Given the description of an element on the screen output the (x, y) to click on. 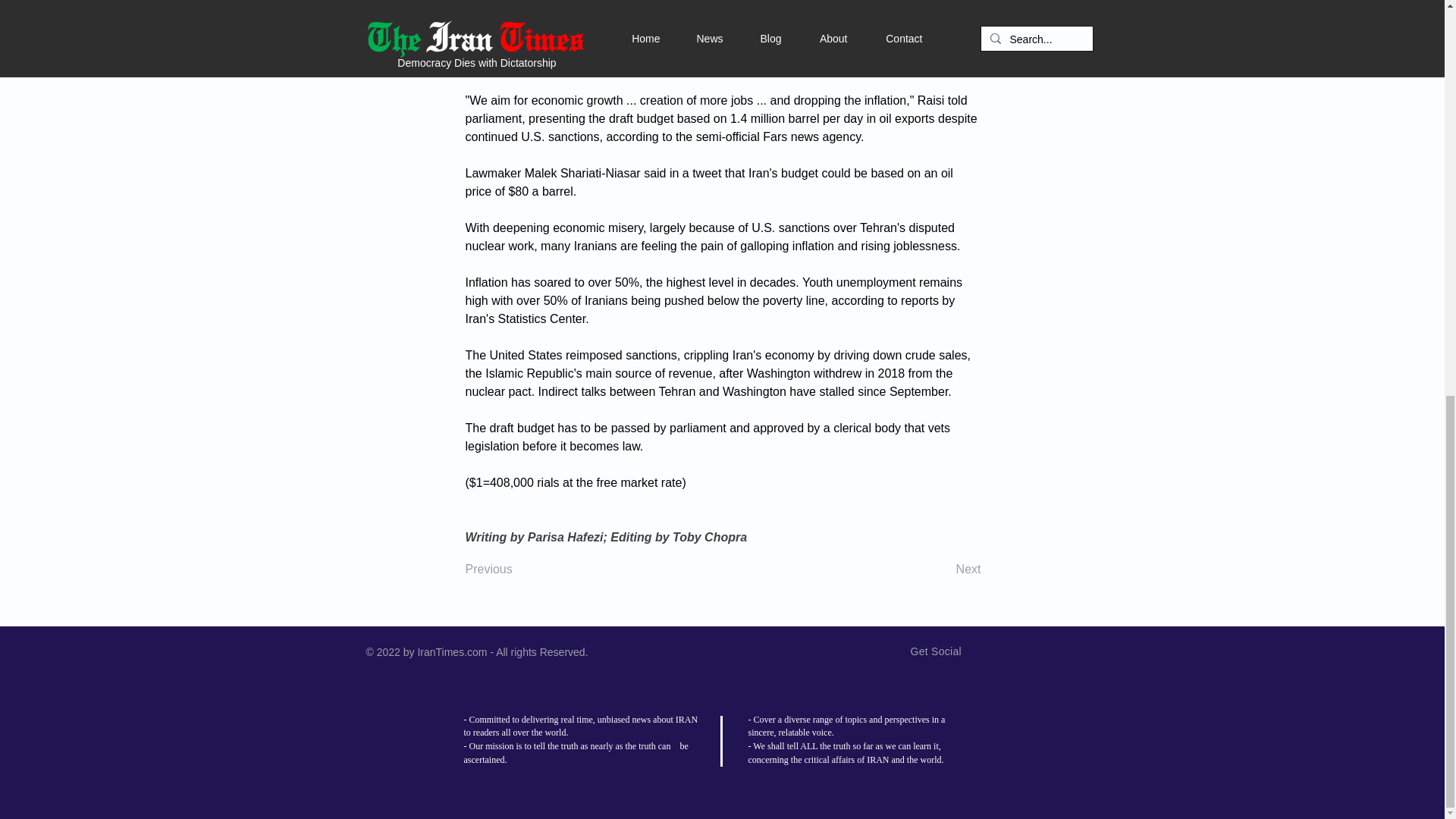
Next (943, 569)
Previous (515, 569)
